Given the description of an element on the screen output the (x, y) to click on. 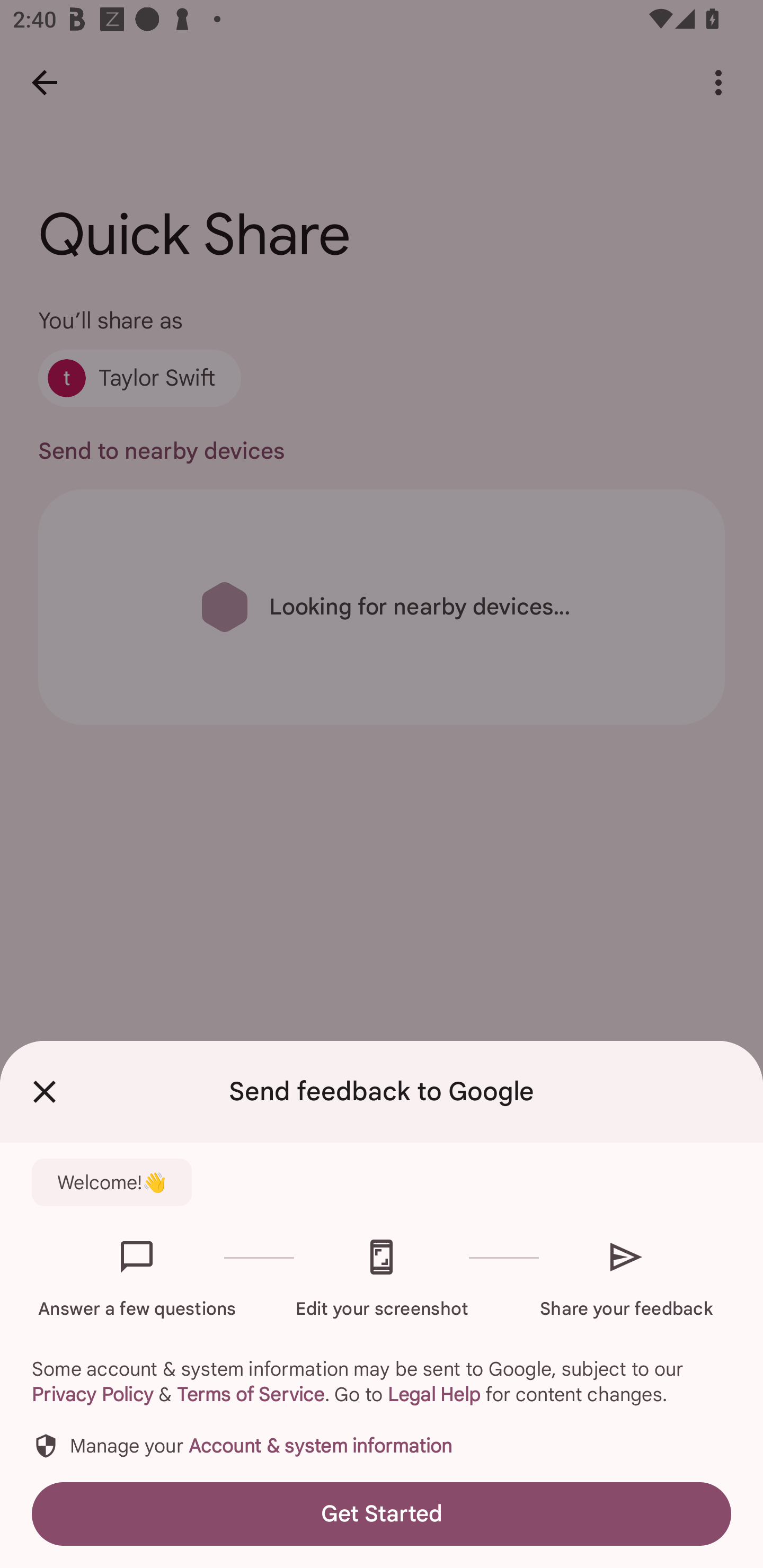
Close Feedback (44, 1091)
Get Started (381, 1513)
